Given the description of an element on the screen output the (x, y) to click on. 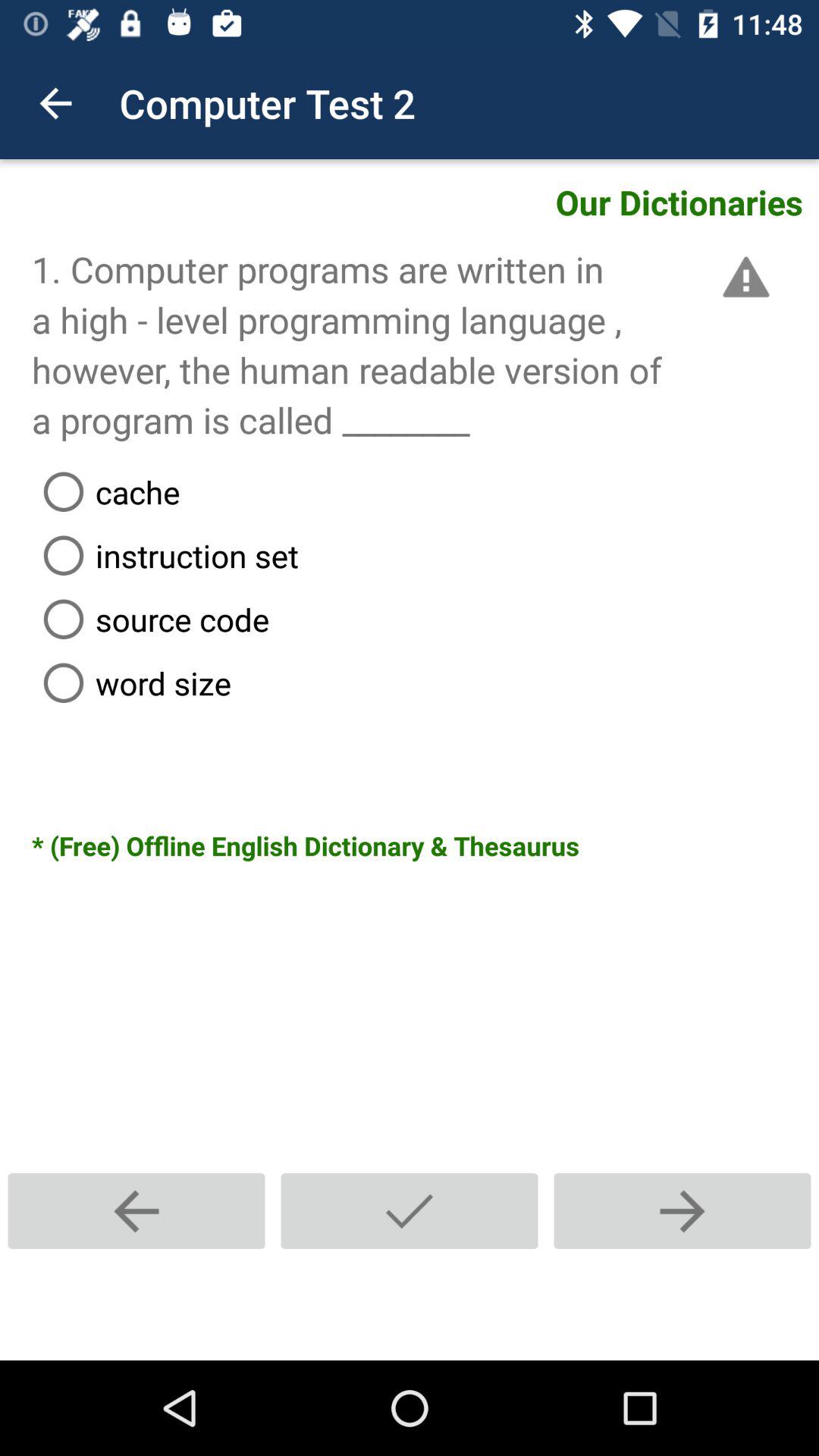
go to next screen (682, 1210)
